Given the description of an element on the screen output the (x, y) to click on. 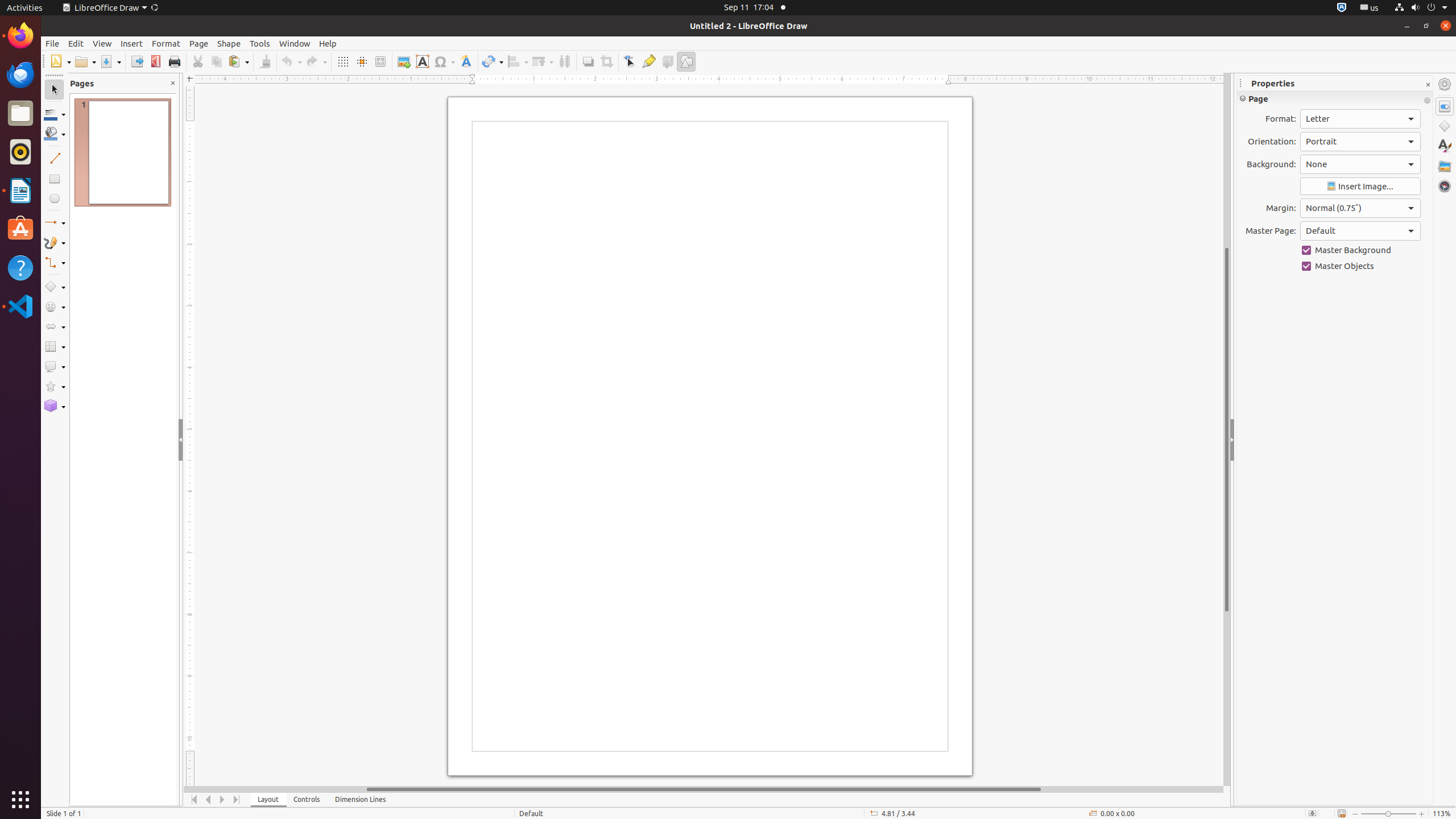
Horizontal scroll bar Element type: scroll-bar (703, 789)
Helplines While Moving Element type: toggle-button (361, 61)
Move To End Element type: push-button (236, 799)
Connectors Element type: push-button (54, 262)
